Given the description of an element on the screen output the (x, y) to click on. 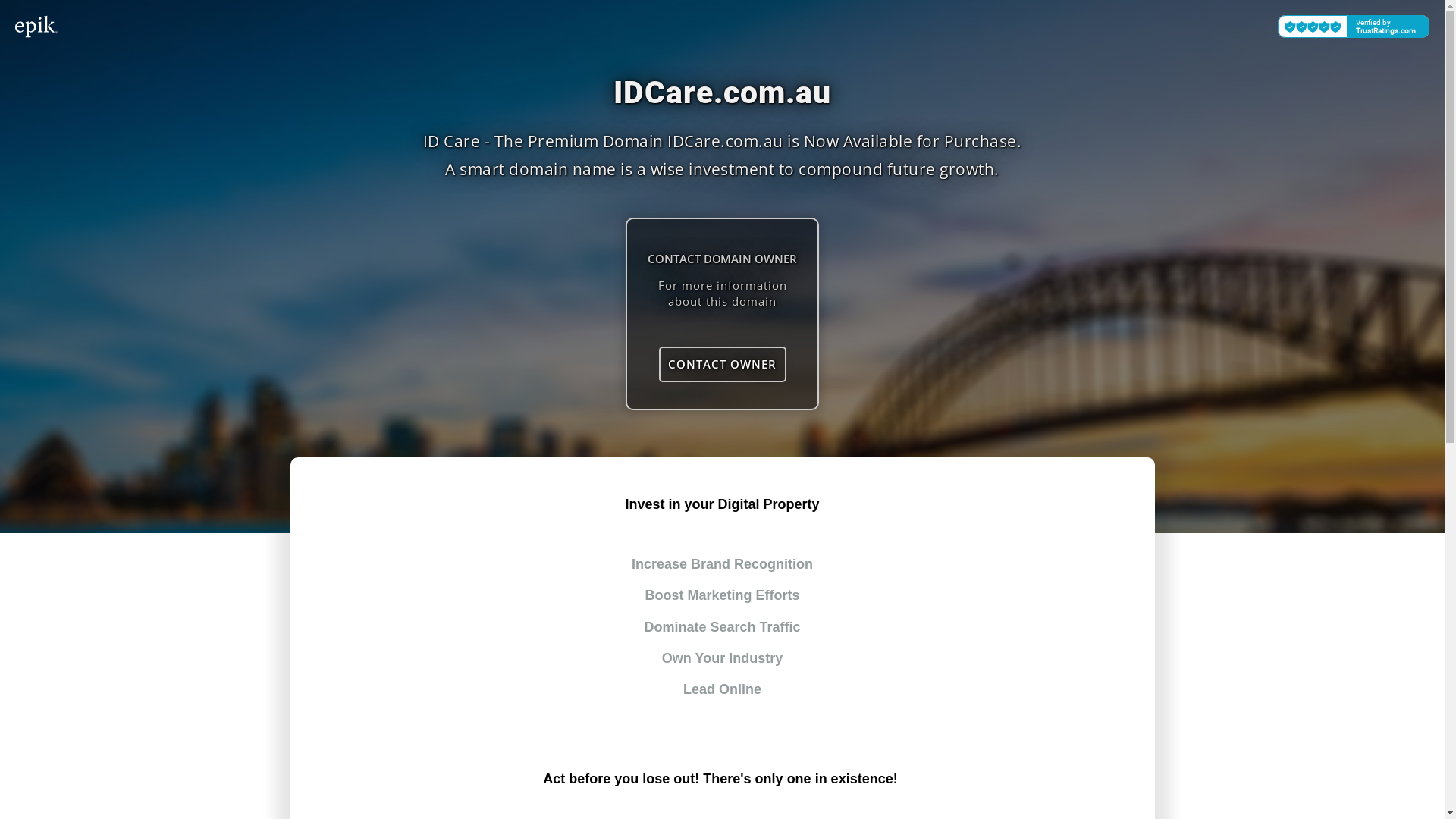
Verified by TrustRatings.com Element type: hover (1353, 26)
CONTACT OWNER Element type: text (721, 364)
